Given the description of an element on the screen output the (x, y) to click on. 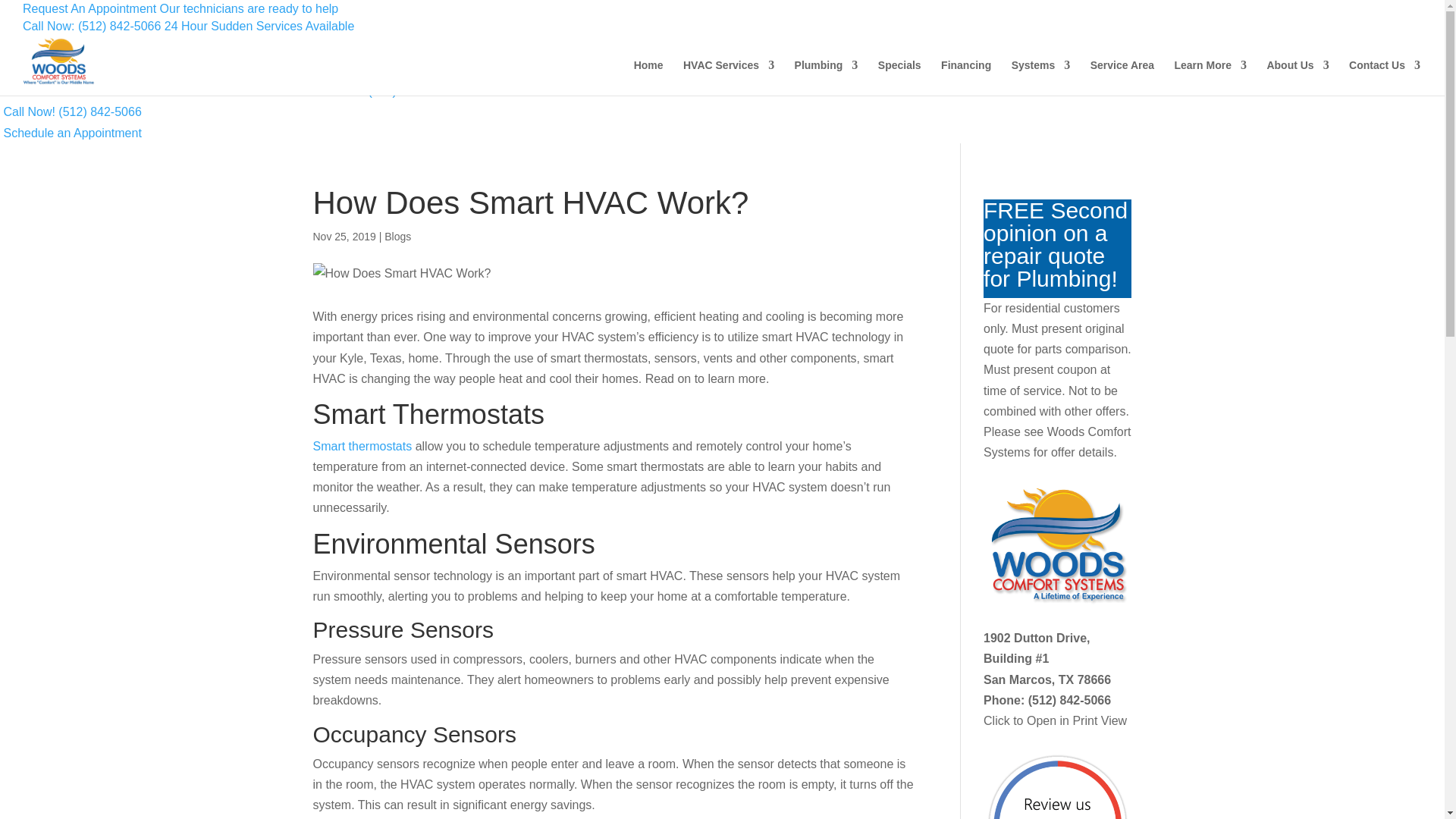
Request An Appointment Our technicians are ready to help (180, 8)
Schedule an Appointment (70, 132)
Specials (899, 77)
Schedule an Appointment (180, 8)
Call Us Now! (70, 111)
Financing (965, 77)
Service Area (1122, 77)
Contact Us (1385, 77)
Systems (1040, 77)
About Us (1296, 77)
Plumbing (826, 77)
Request An Appointment Our technicians are ready to help (470, 70)
Learn More (1209, 77)
Call Us Now! (478, 91)
Schedule an Appointment (70, 132)
